Given the description of an element on the screen output the (x, y) to click on. 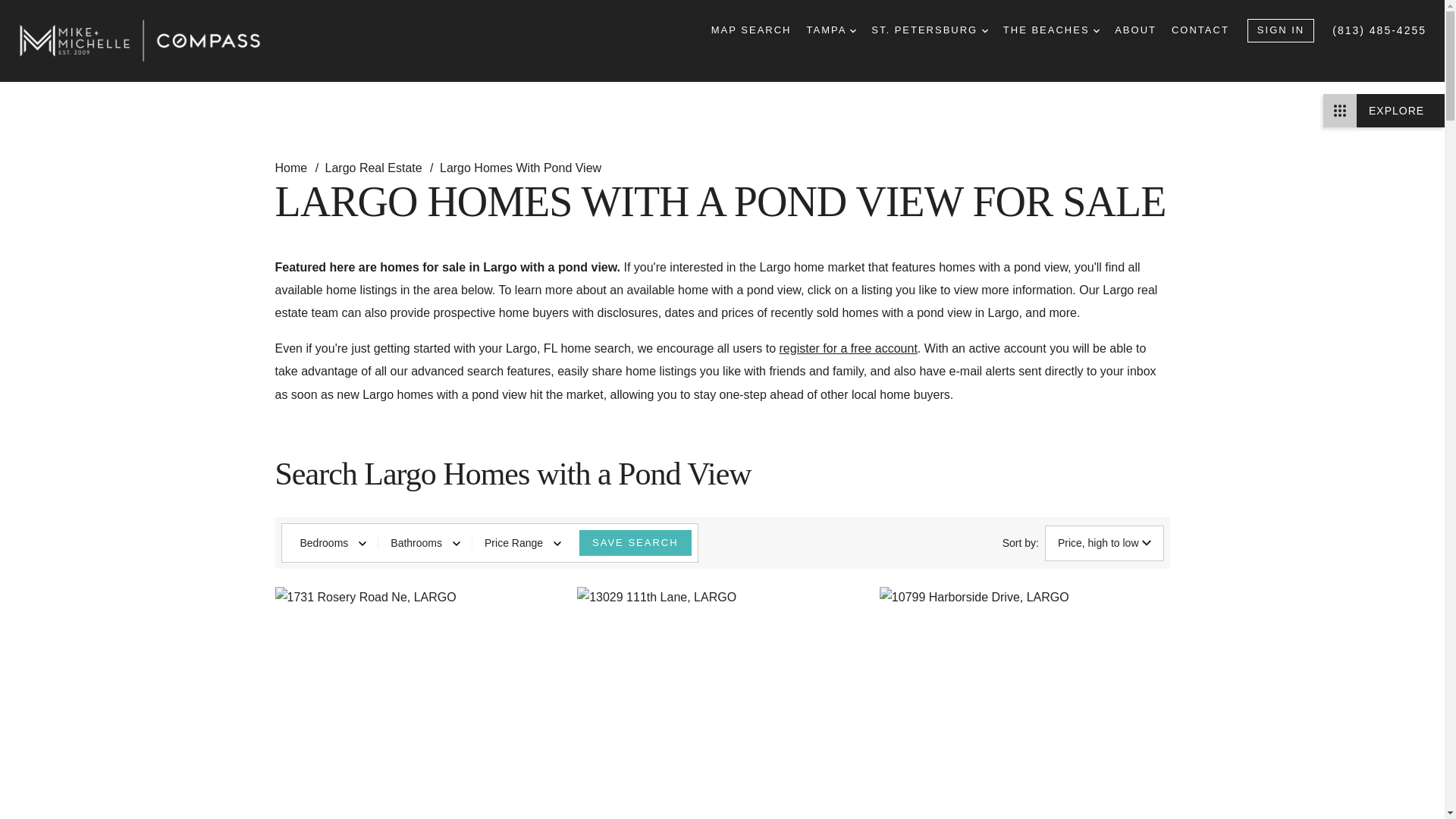
TAMPA DROPDOWN ARROW (831, 30)
DROPDOWN ARROW (853, 30)
ST. PETERSBURG DROPDOWN ARROW (929, 30)
DROPDOWN ARROW (1096, 30)
THE BEACHES DROPDOWN ARROW (1051, 30)
CONTACT (1200, 30)
MAP SEARCH (751, 30)
ABOUT (1135, 30)
DROPDOWN ARROW (984, 30)
